Given the description of an element on the screen output the (x, y) to click on. 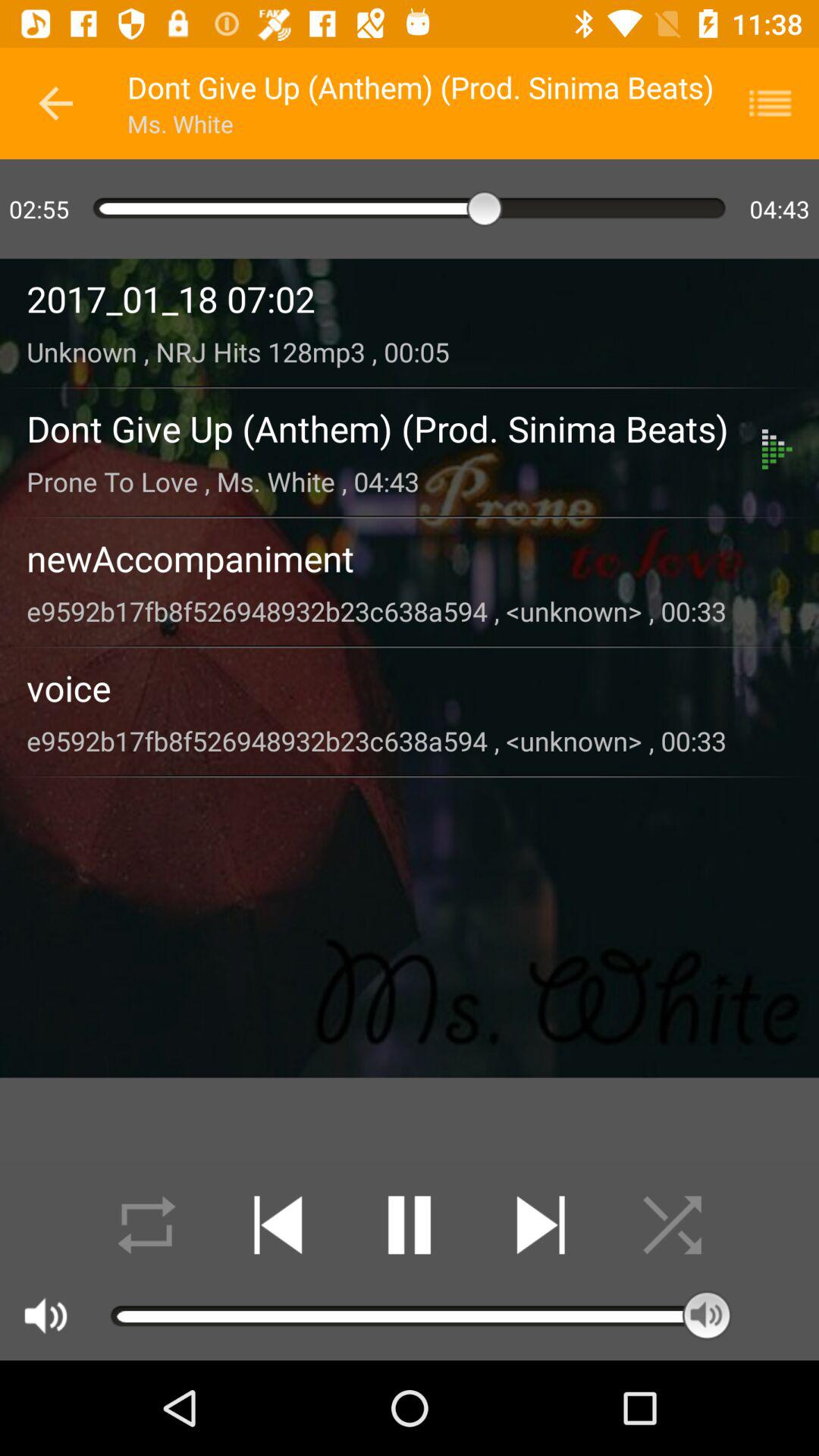
launch newaccompaniment icon (409, 558)
